Given the description of an element on the screen output the (x, y) to click on. 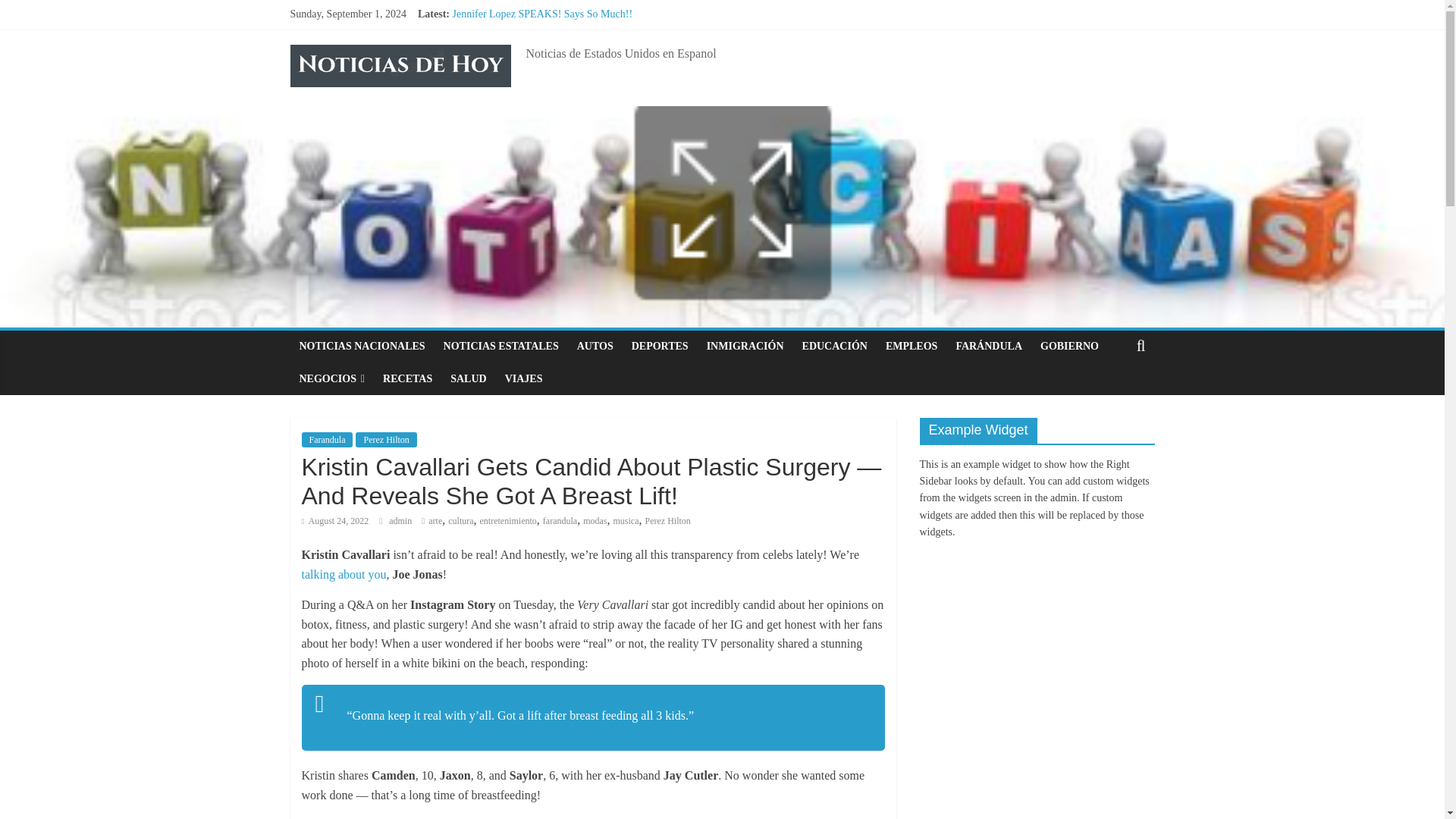
Jennifer Lopez SPEAKS! Says So Much!! (541, 13)
Perez Hilton (385, 439)
AUTOS (595, 346)
4:04 pm (335, 520)
cultura (460, 520)
talking about you (344, 574)
modas (595, 520)
August 24, 2022 (335, 520)
NEGOCIOS (331, 378)
entretenimiento (508, 520)
